Given the description of an element on the screen output the (x, y) to click on. 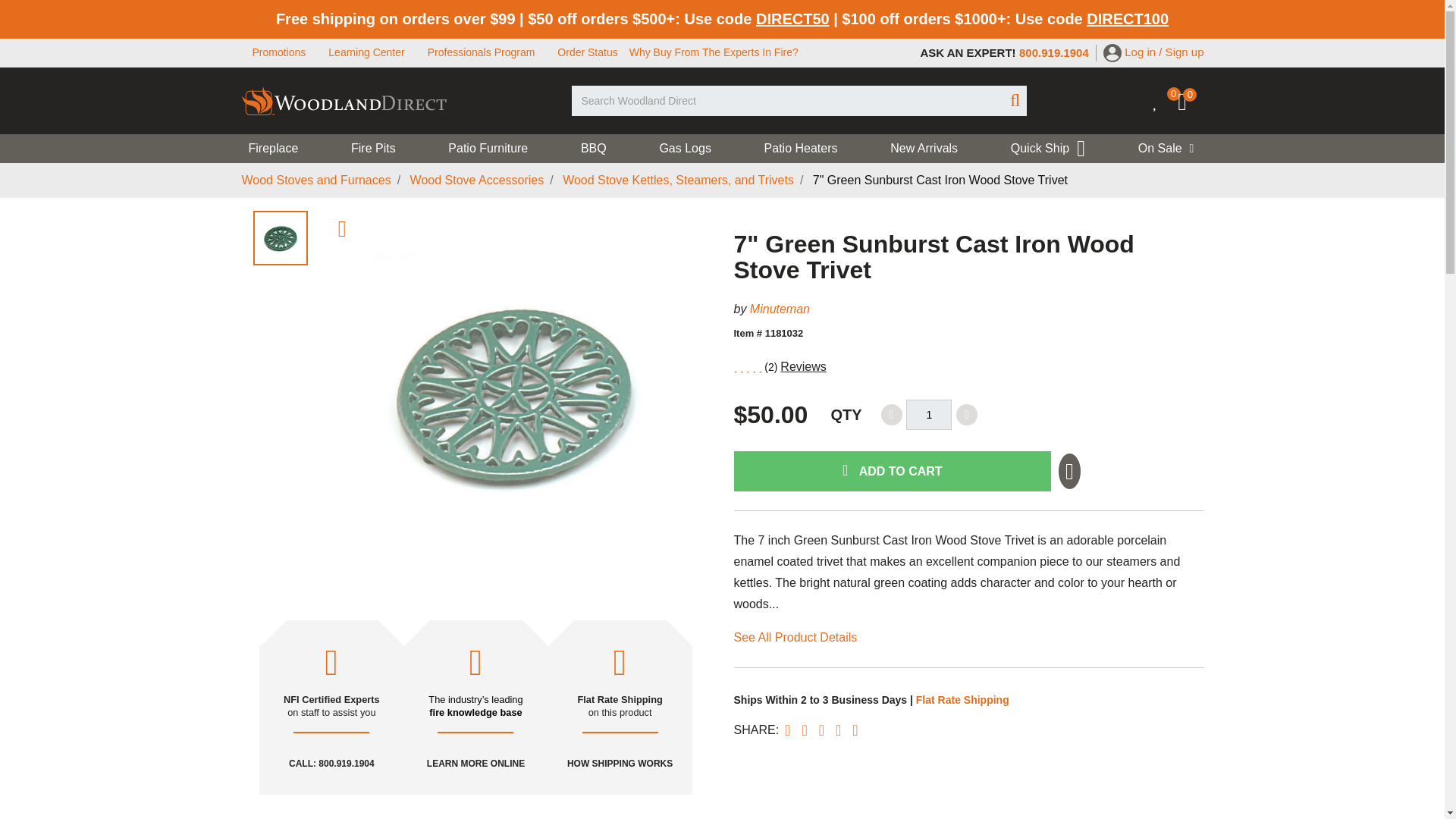
Fireplace (280, 148)
Learning Center (366, 52)
Professionals Program (481, 52)
Why Buy From The Experts In Fire? (712, 52)
800.919.1904 (1054, 51)
1 (928, 414)
Promotions (278, 52)
Cart 0 Items (1190, 105)
See All Product Details (795, 636)
0 (1190, 105)
